Given the description of an element on the screen output the (x, y) to click on. 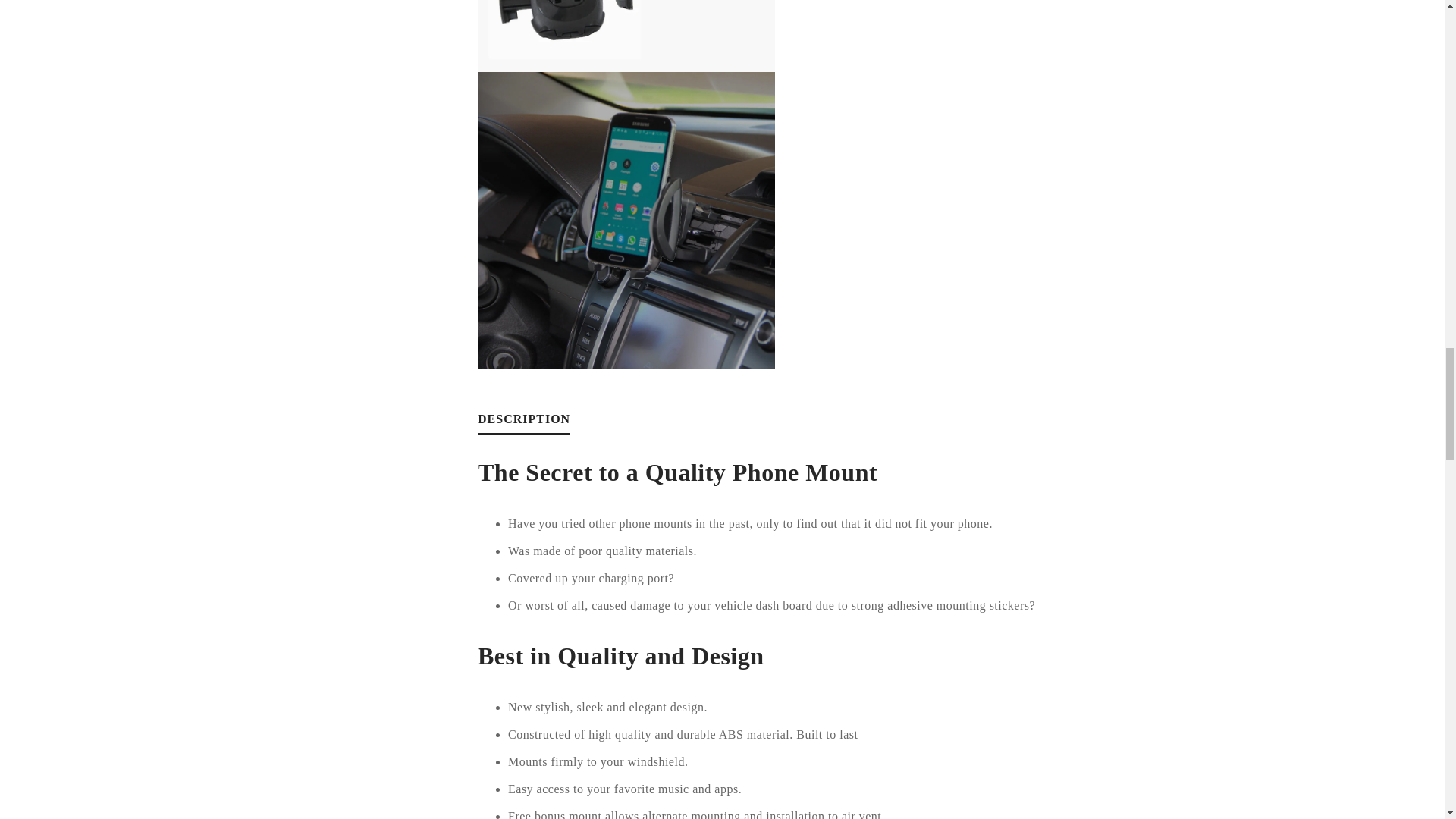
DESCRIPTION (523, 423)
